Given the description of an element on the screen output the (x, y) to click on. 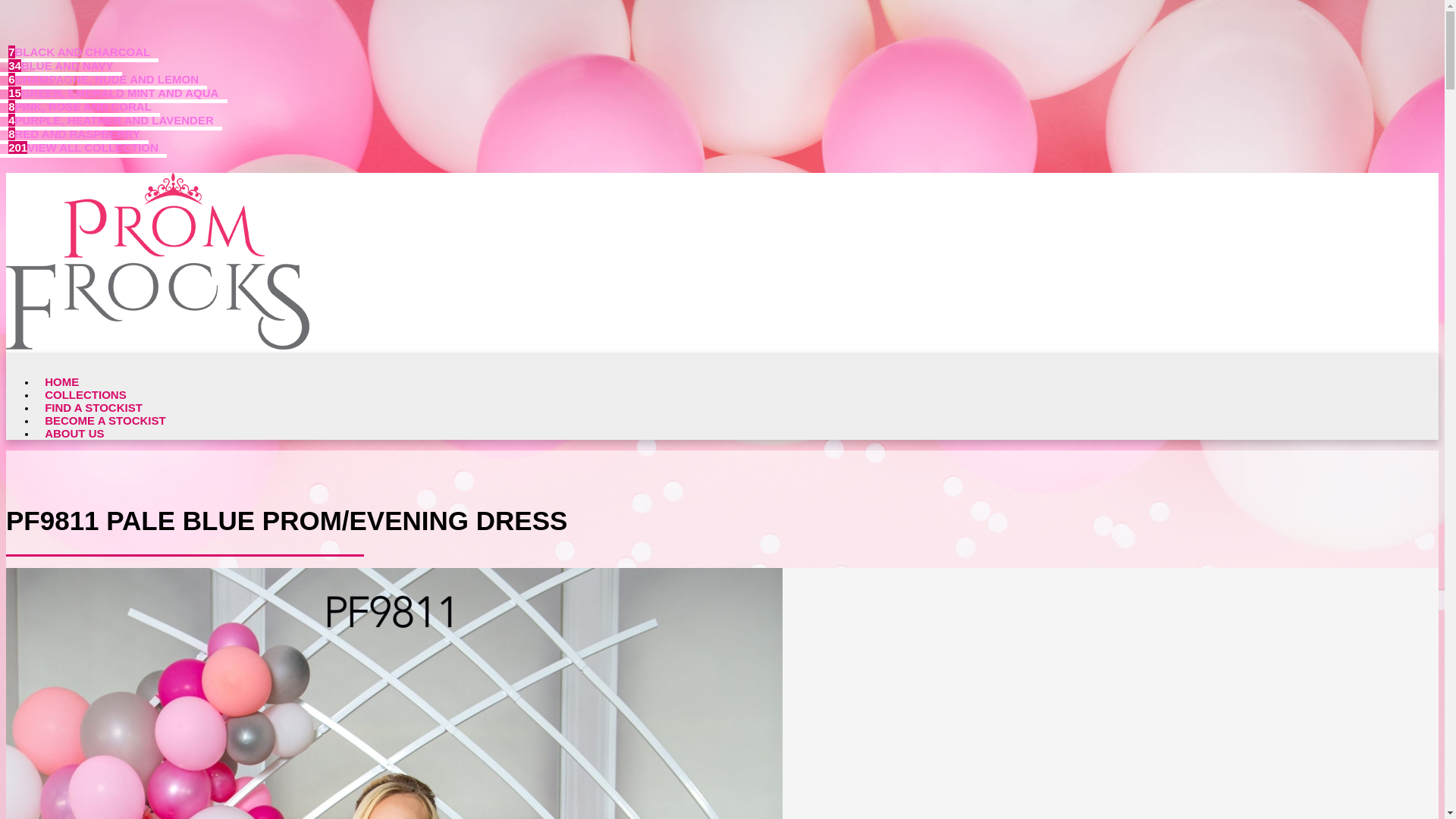
COLLECTIONS (85, 394)
8PINK, ROSE AND CORAL (80, 106)
4PURPLE, HEATHER AND LAVENDER (111, 119)
6CHAMPAGNE, NUDE AND LEMON (103, 78)
FIND A STOCKIST (93, 407)
BECOME A STOCKIST (105, 420)
7BLACK AND CHARCOAL (79, 51)
201VIEW ALL COLLECTION (83, 147)
15GREEN, EMERALD MINT AND AQUA (113, 92)
HOME (61, 381)
34BLUE AND NAVY (61, 65)
8RED AND RASPBERRY (74, 133)
ABOUT US (74, 432)
